Given the description of an element on the screen output the (x, y) to click on. 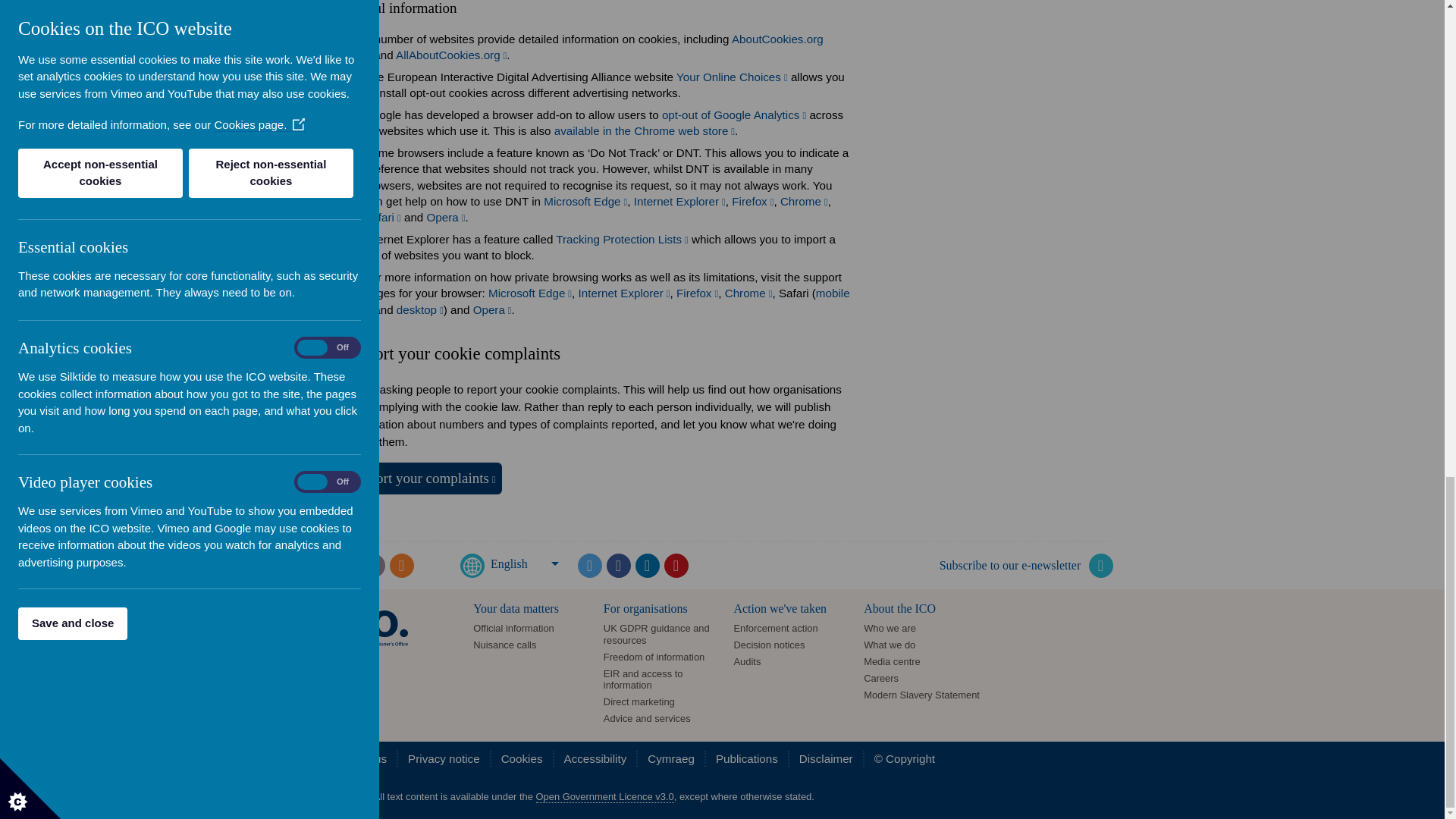
External link (382, 216)
External link (734, 114)
AboutCookies.org (593, 46)
Microsoft Edge, browsing data, and privacy (585, 201)
Firefox (752, 201)
AllAboutCookies.org (451, 54)
Your Online Choices (732, 76)
Chrome (804, 201)
Use Do Not Track in Internet Explorer 11 (679, 201)
Settings for privacy, browsing history and do-not-track (752, 201)
Turn "Do Not Track" on or off (804, 201)
Internet Explorer (679, 201)
Browse in private in Microsoft Edge (529, 292)
available in the Chrome web store (644, 130)
Opera tracking information (445, 216)
